Given the description of an element on the screen output the (x, y) to click on. 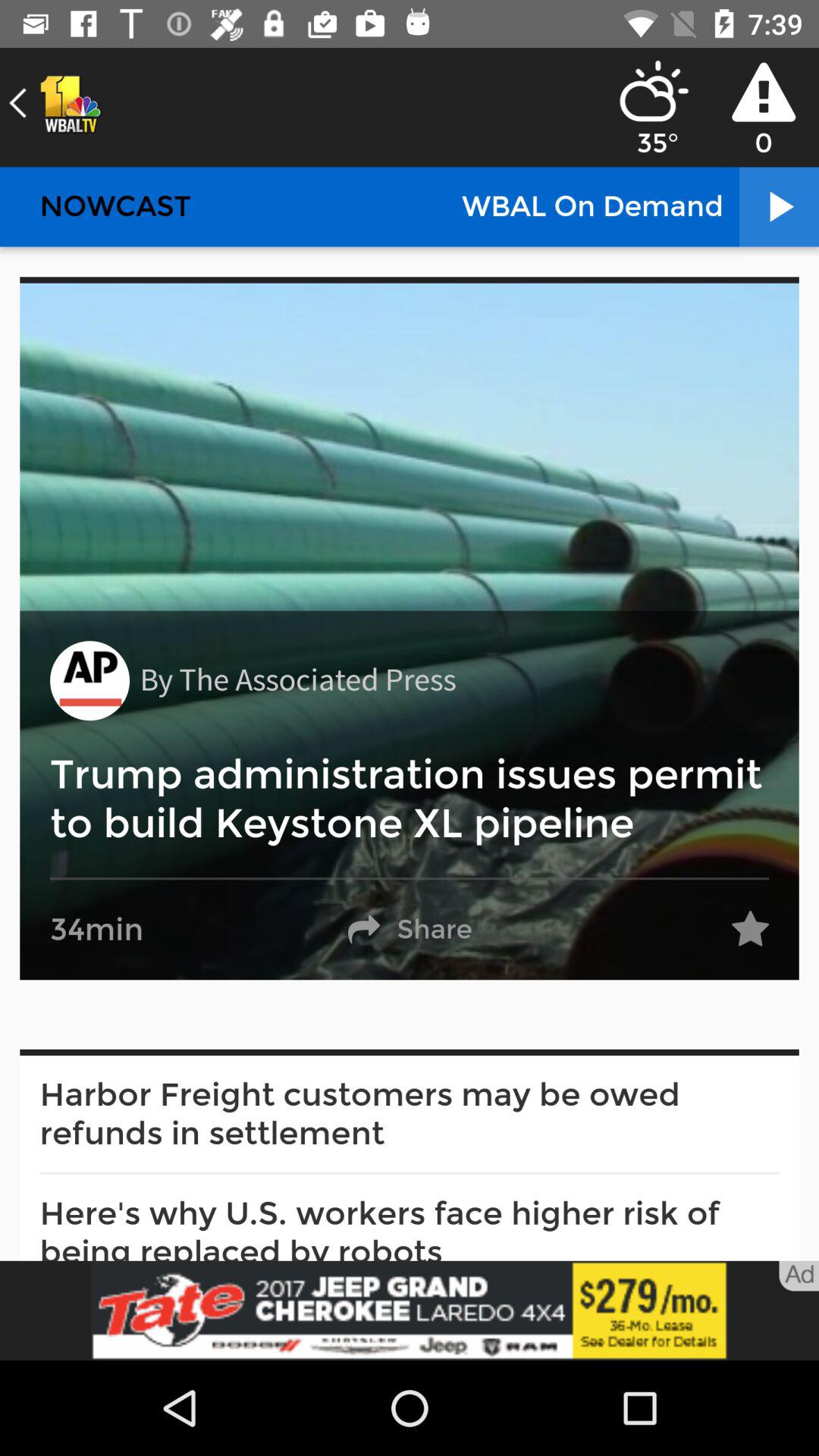
go to tate advertisement (409, 1310)
